Given the description of an element on the screen output the (x, y) to click on. 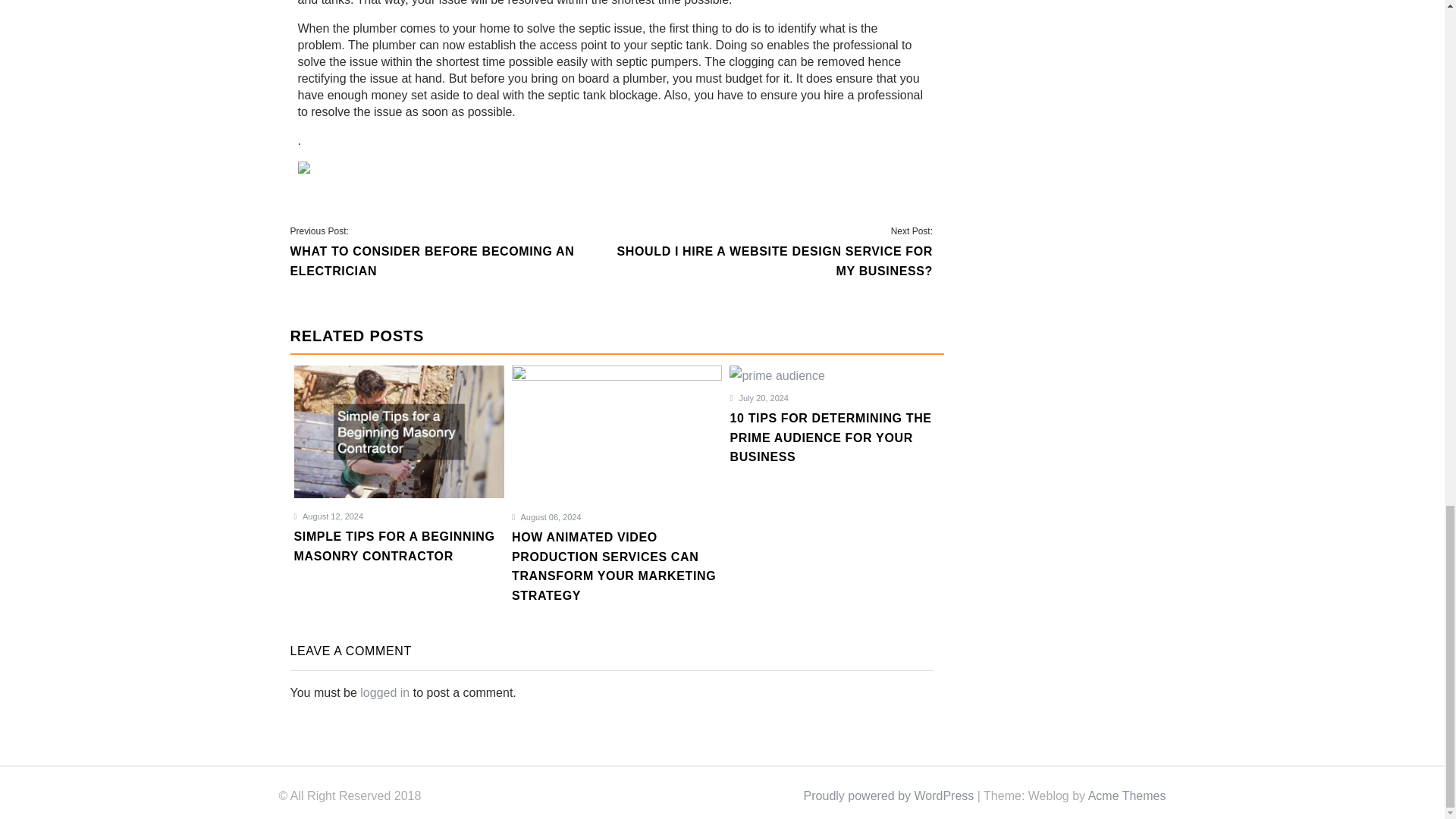
logged in (384, 692)
July 20, 2024 (759, 397)
SIMPLE TIPS FOR A BEGINNING MASONRY CONTRACTOR (398, 555)
10 TIPS FOR DETERMINING THE PRIME AUDIENCE FOR YOUR BUSINESS (834, 446)
August 12, 2024 (329, 515)
August 06, 2024 (546, 516)
